Given the description of an element on the screen output the (x, y) to click on. 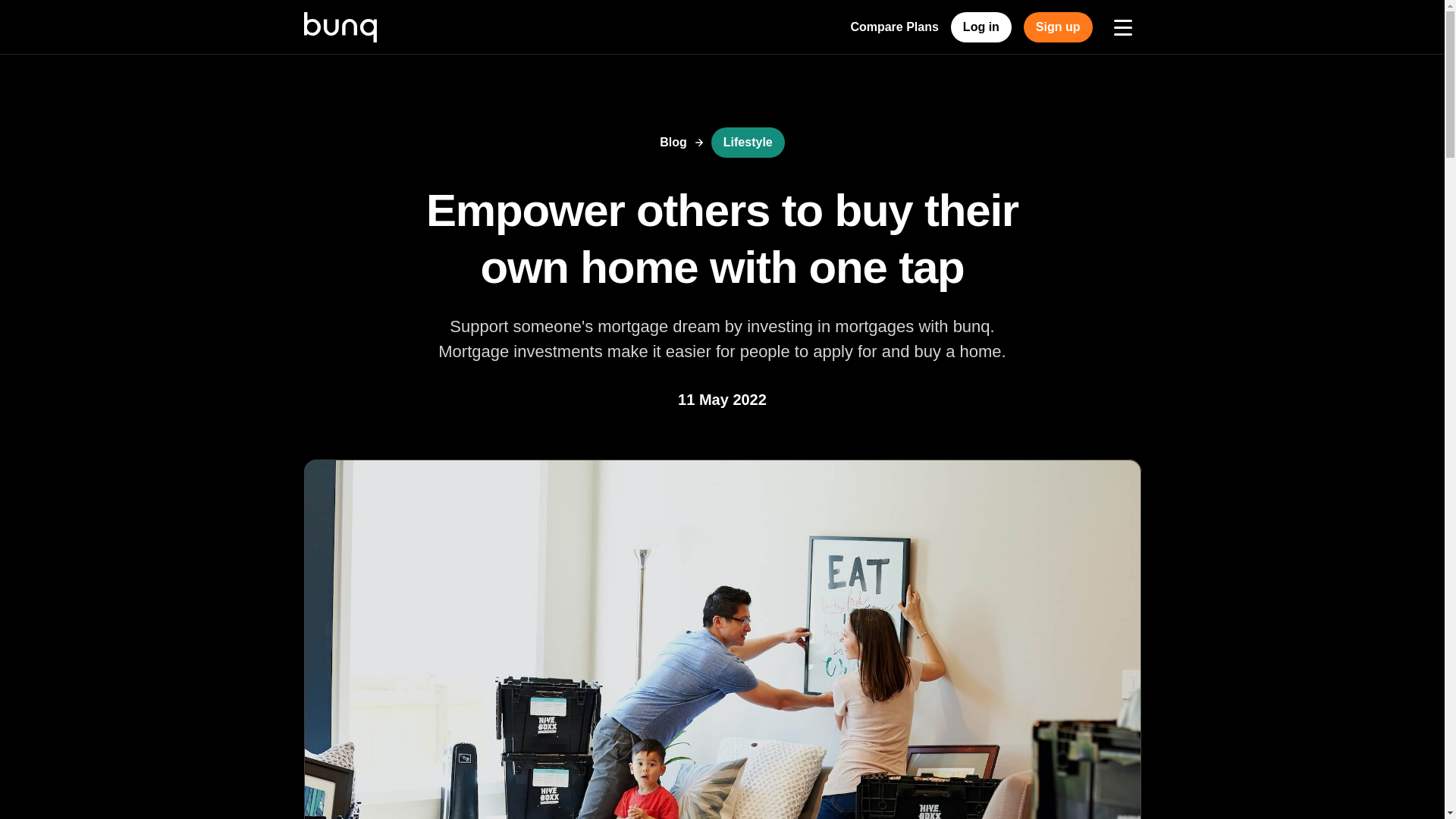
Blog (673, 142)
Log in (980, 27)
Lifestyle (747, 142)
Sign up (1058, 27)
Compare Plans (893, 27)
